Given the description of an element on the screen output the (x, y) to click on. 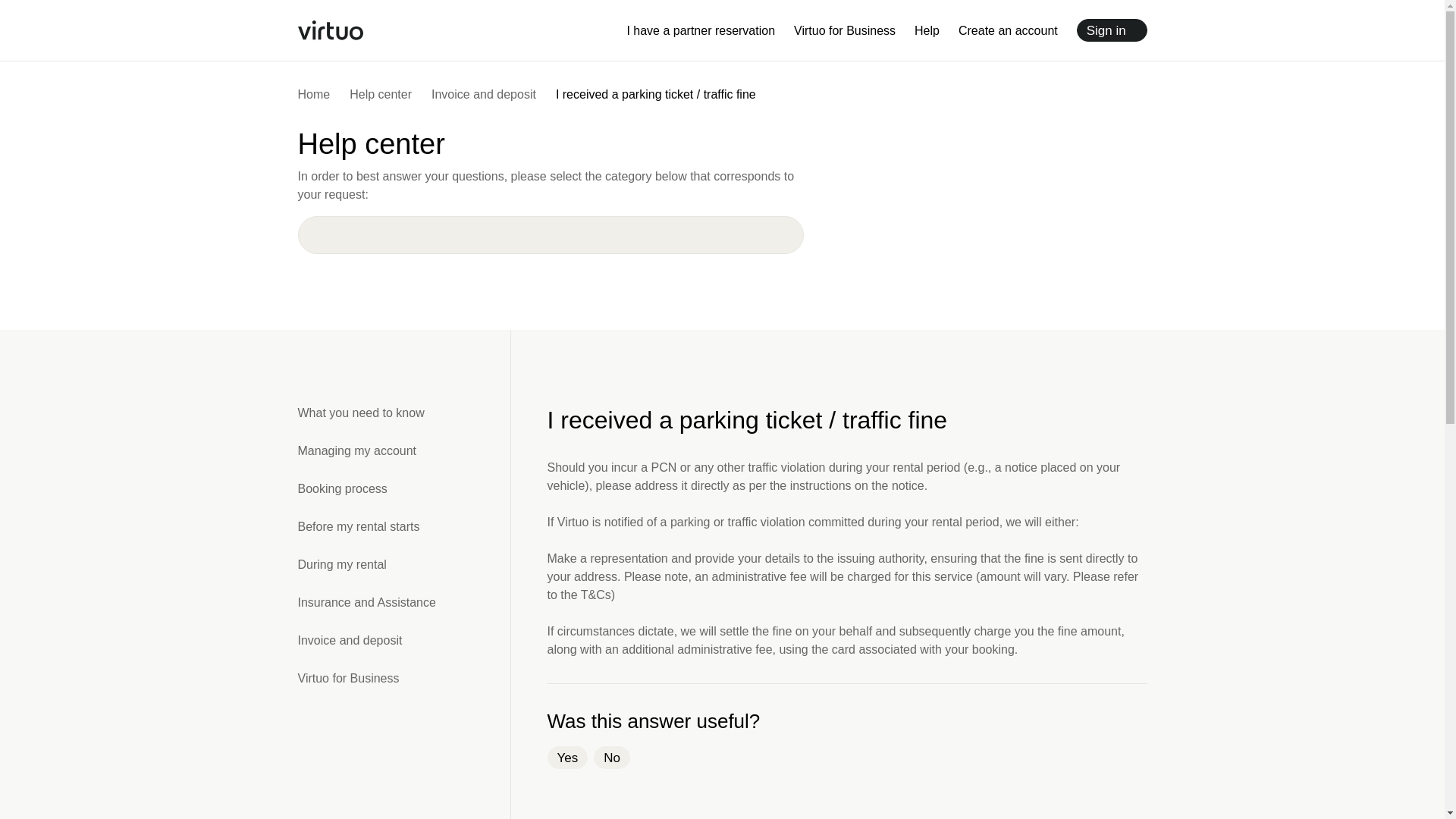
Sign in (1112, 29)
During my rental (403, 564)
What you need to know (403, 412)
Virtuo for Business (403, 678)
Invoice and deposit (403, 640)
Create an account (1008, 29)
Managing my account (403, 450)
No (612, 757)
Home (313, 93)
Help (926, 29)
Yes (567, 757)
Help center (380, 93)
Virtuo for Business (844, 29)
I have a partner reservation (700, 29)
Invoice and deposit (482, 93)
